Given the description of an element on the screen output the (x, y) to click on. 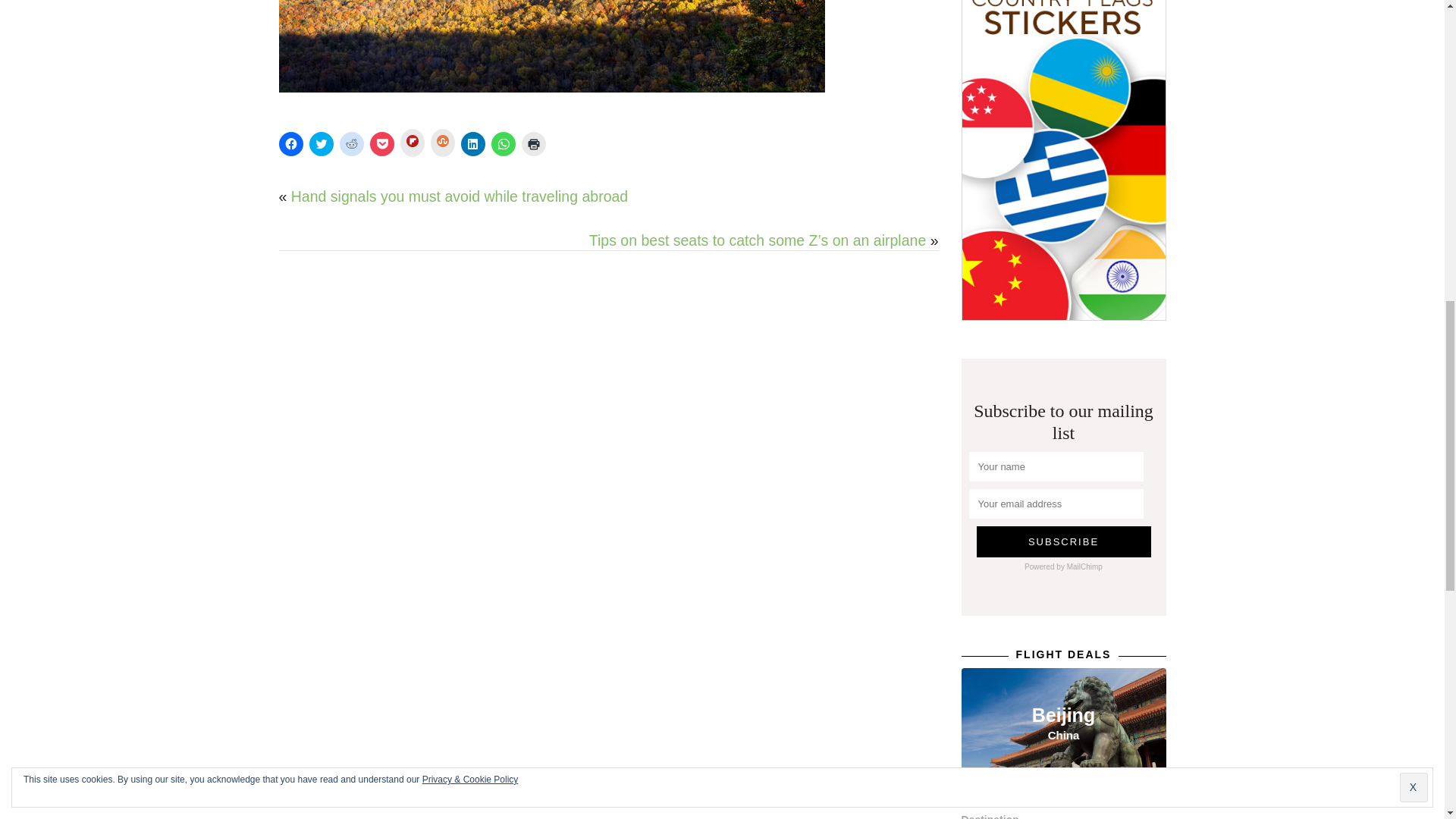
Subscribe (1063, 541)
